Given the description of an element on the screen output the (x, y) to click on. 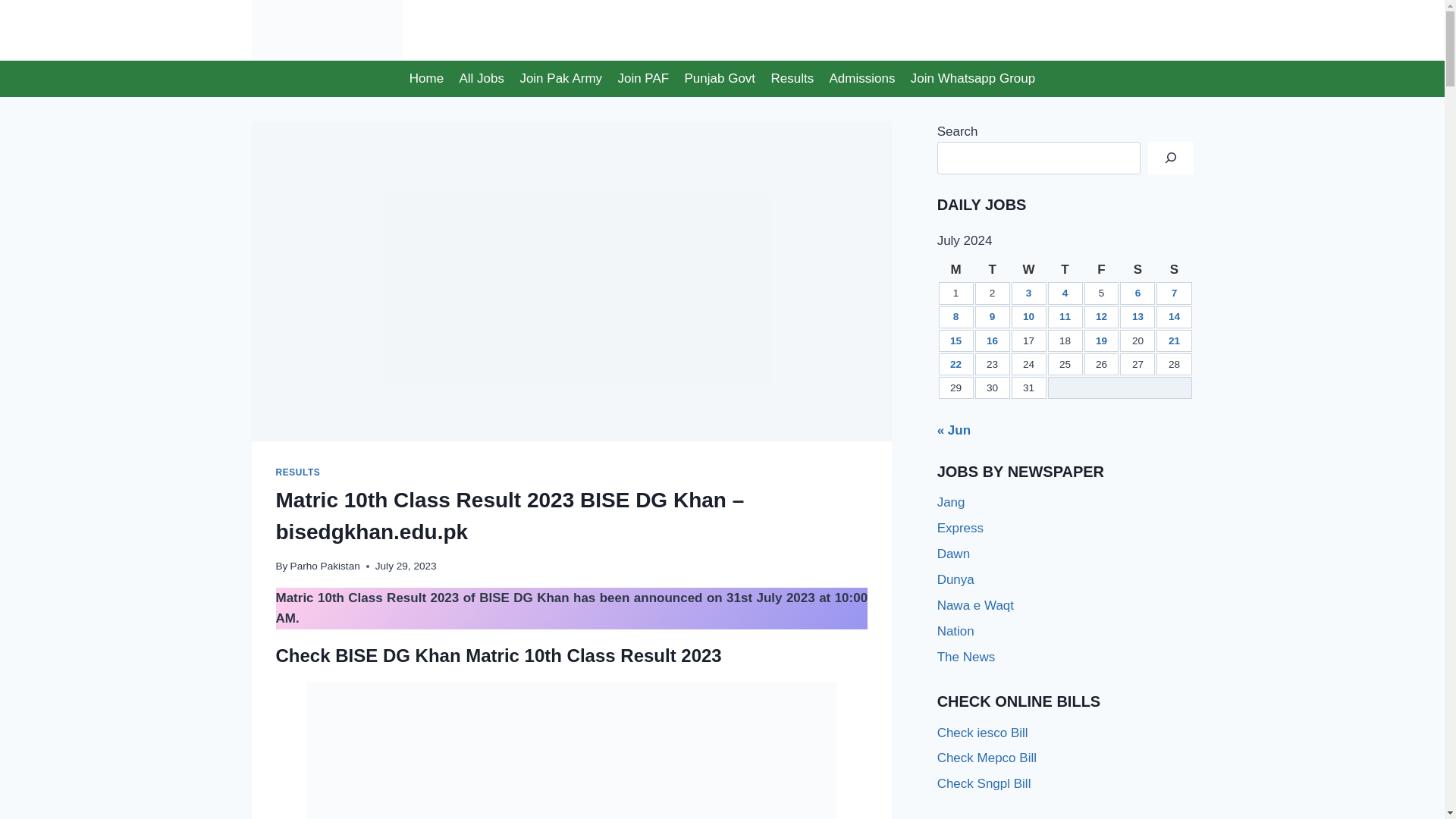
Sunday (1173, 269)
Home (426, 78)
Saturday (1136, 269)
Wednesday (1028, 269)
Punjab Govt (719, 78)
Join Whatsapp Group (972, 78)
Monday (956, 269)
Join PAF (643, 78)
Friday (1101, 269)
Parho Pakistan (324, 565)
Thursday (1065, 269)
Results (791, 78)
Tuesday (992, 269)
RESULTS (298, 471)
All Jobs (481, 78)
